Given the description of an element on the screen output the (x, y) to click on. 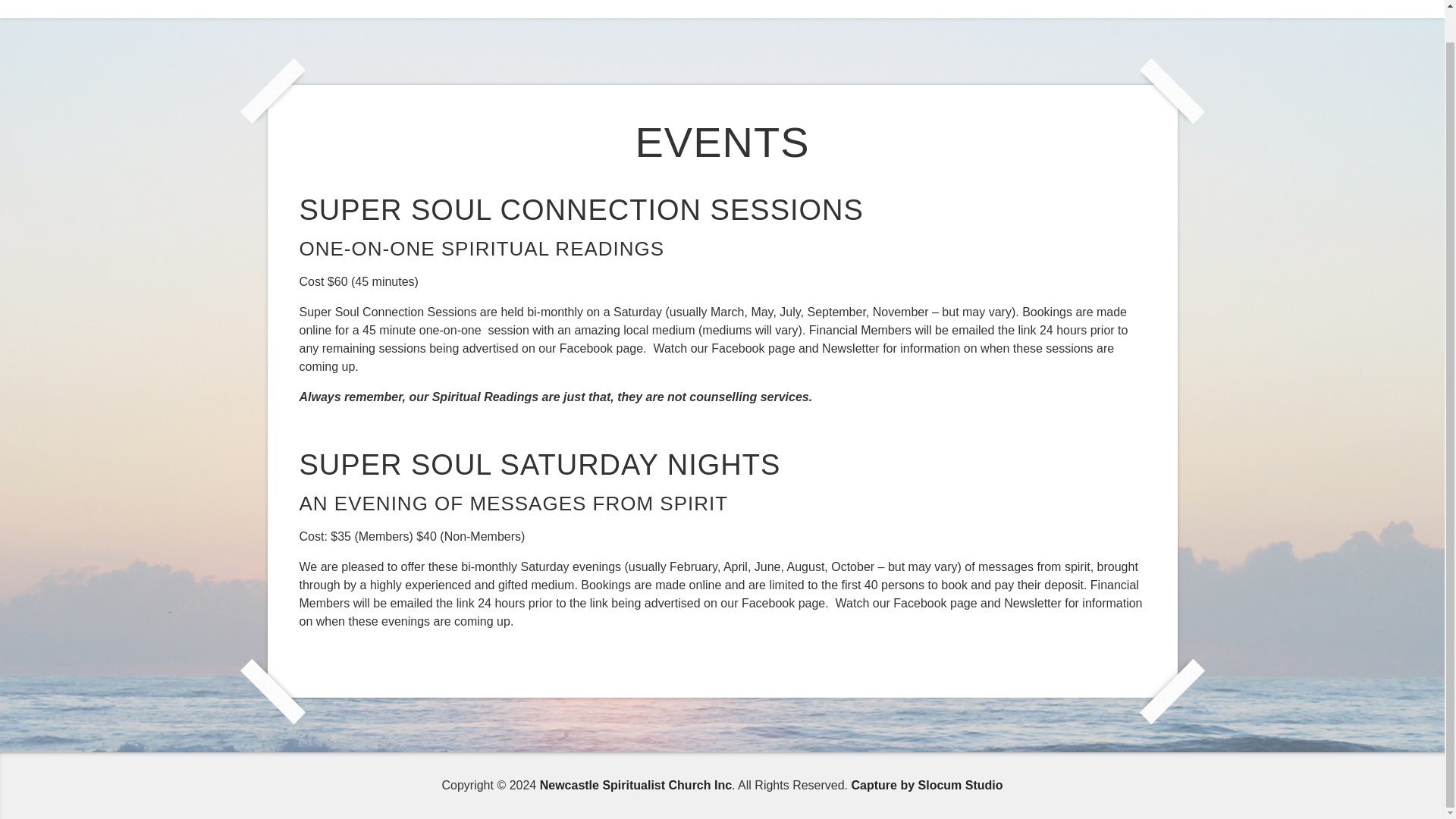
THE MEANING OF SPIRITUALISM (1003, 4)
CONTACT (1138, 4)
MEDITATION AND DEVELOPMENT (587, 4)
NEWSLETTER (372, 4)
Newcastle Spiritualist Church Inc (636, 785)
Capture by Slocum Studio (926, 785)
MEMBERSHIP (858, 4)
HOME (297, 4)
SUNDAY SERVICES (747, 4)
EVENTS (454, 4)
